Given the description of an element on the screen output the (x, y) to click on. 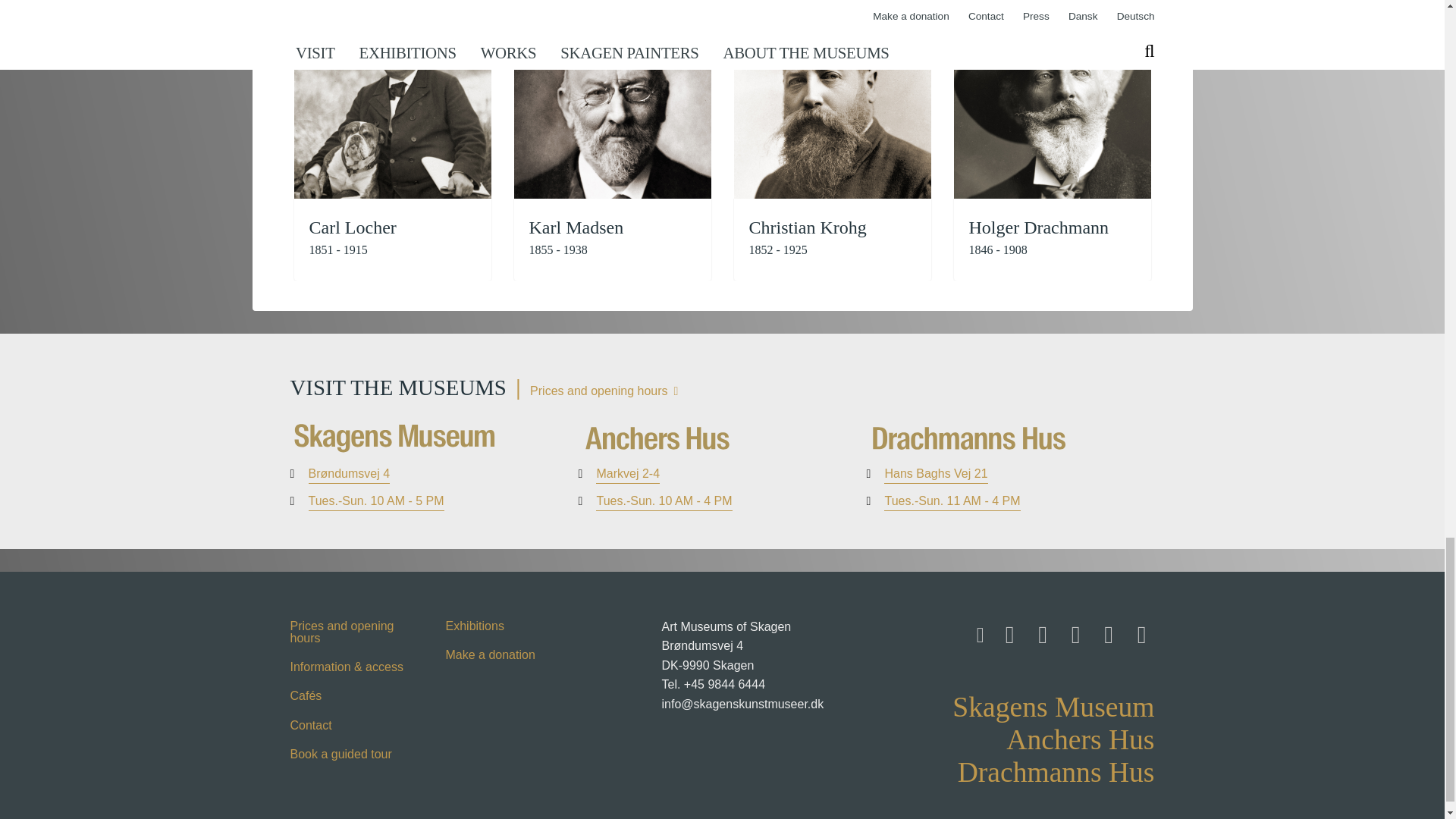
Flickr (1105, 630)
Twitter (1072, 630)
Instagram (1039, 630)
